Given the description of an element on the screen output the (x, y) to click on. 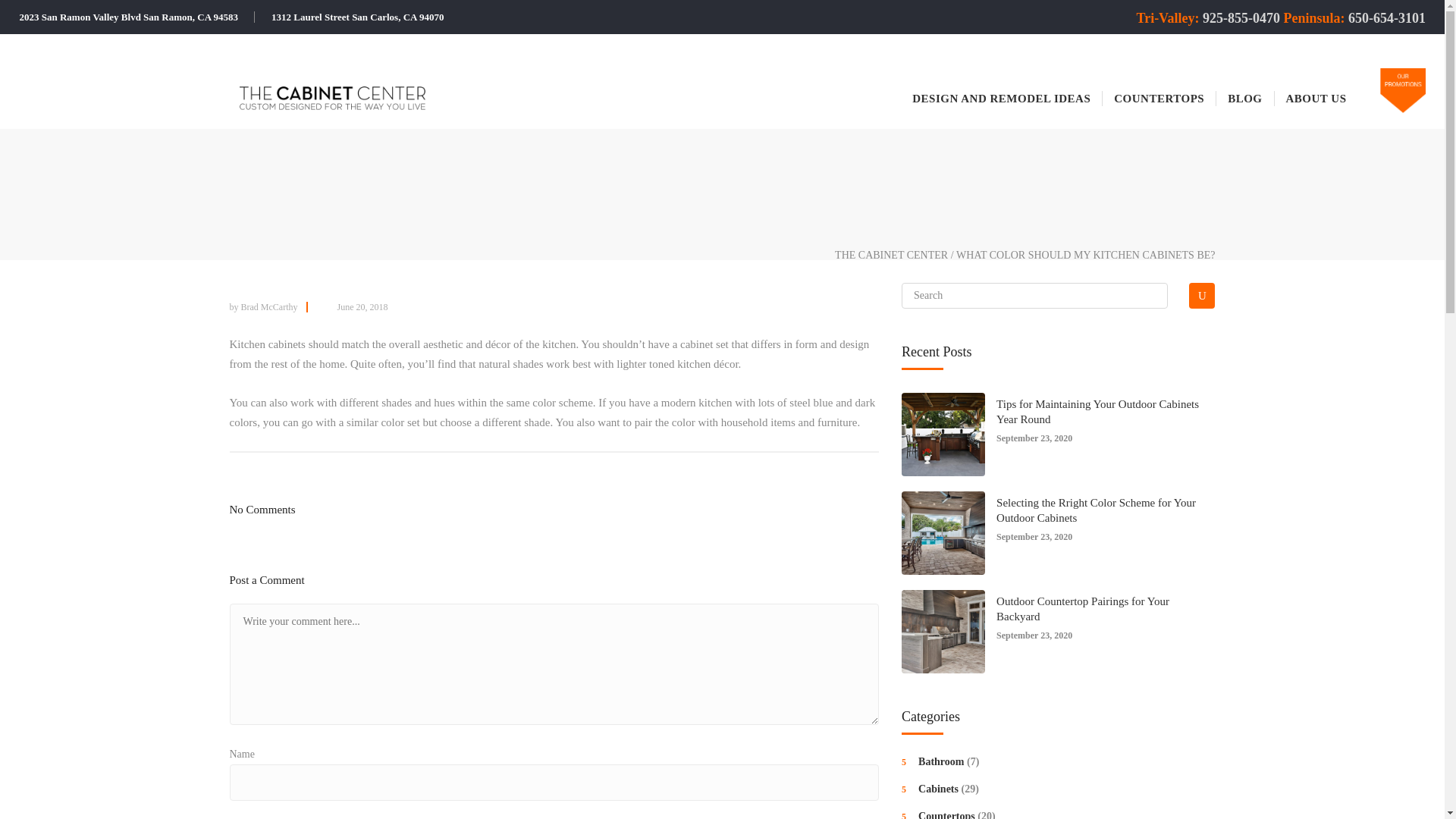
BLOG (1244, 97)
925-855-0470 (1240, 17)
DESIGN AND REMODEL IDEAS (1001, 97)
ABOUT US (1315, 97)
U (1201, 295)
COUNTERTOPS (1158, 97)
650-654-3101 (1386, 17)
